Given the description of an element on the screen output the (x, y) to click on. 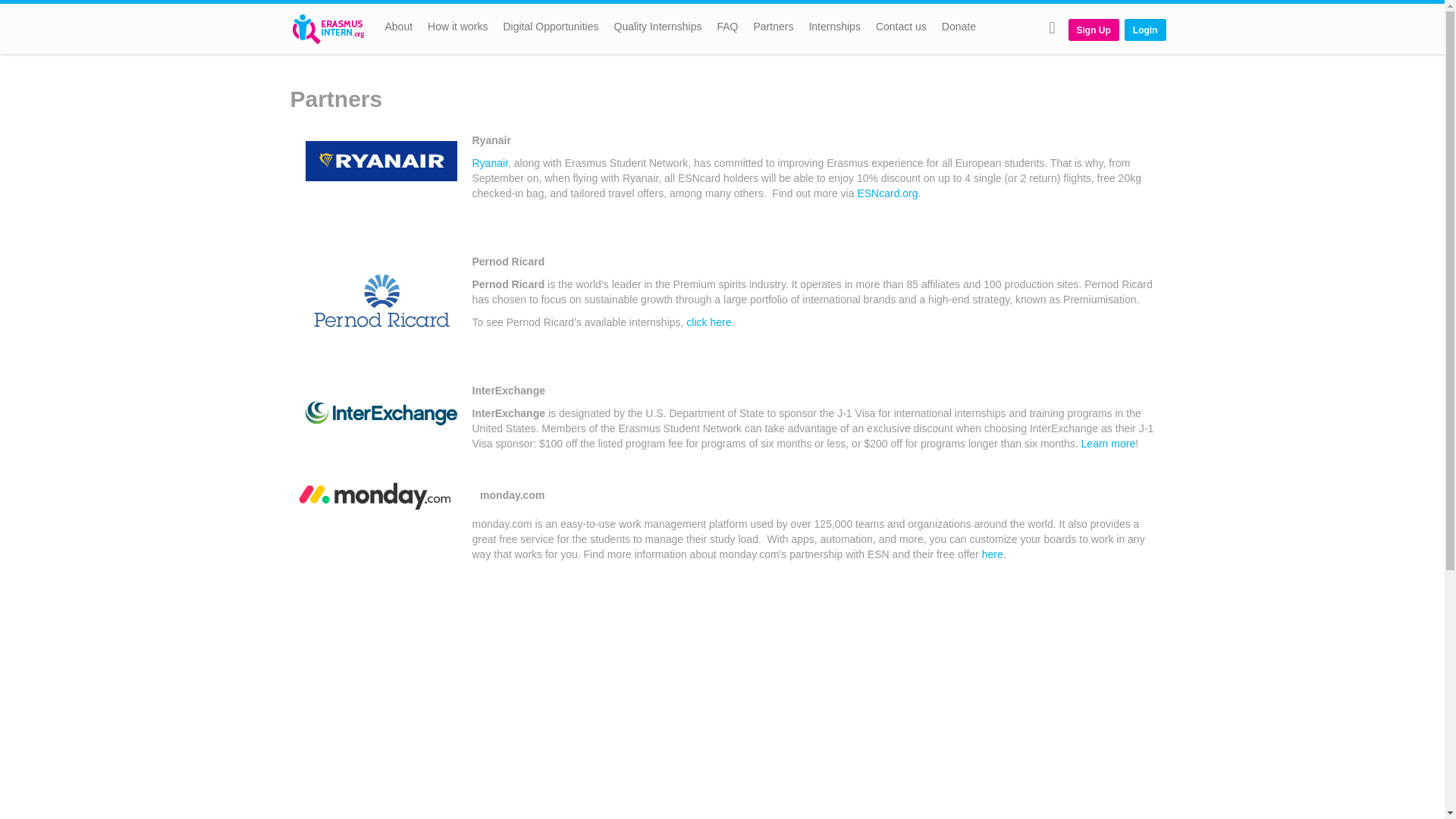
here (992, 553)
Ryanair (488, 162)
Advertisement (721, 755)
Partners (772, 28)
Internships (833, 28)
click here (707, 322)
Sign Up (1093, 29)
Home (333, 28)
ESNcard.org (887, 193)
FAQ (727, 28)
Learn more (1108, 443)
About (398, 28)
How it works (457, 28)
Donate (959, 28)
